Given the description of an element on the screen output the (x, y) to click on. 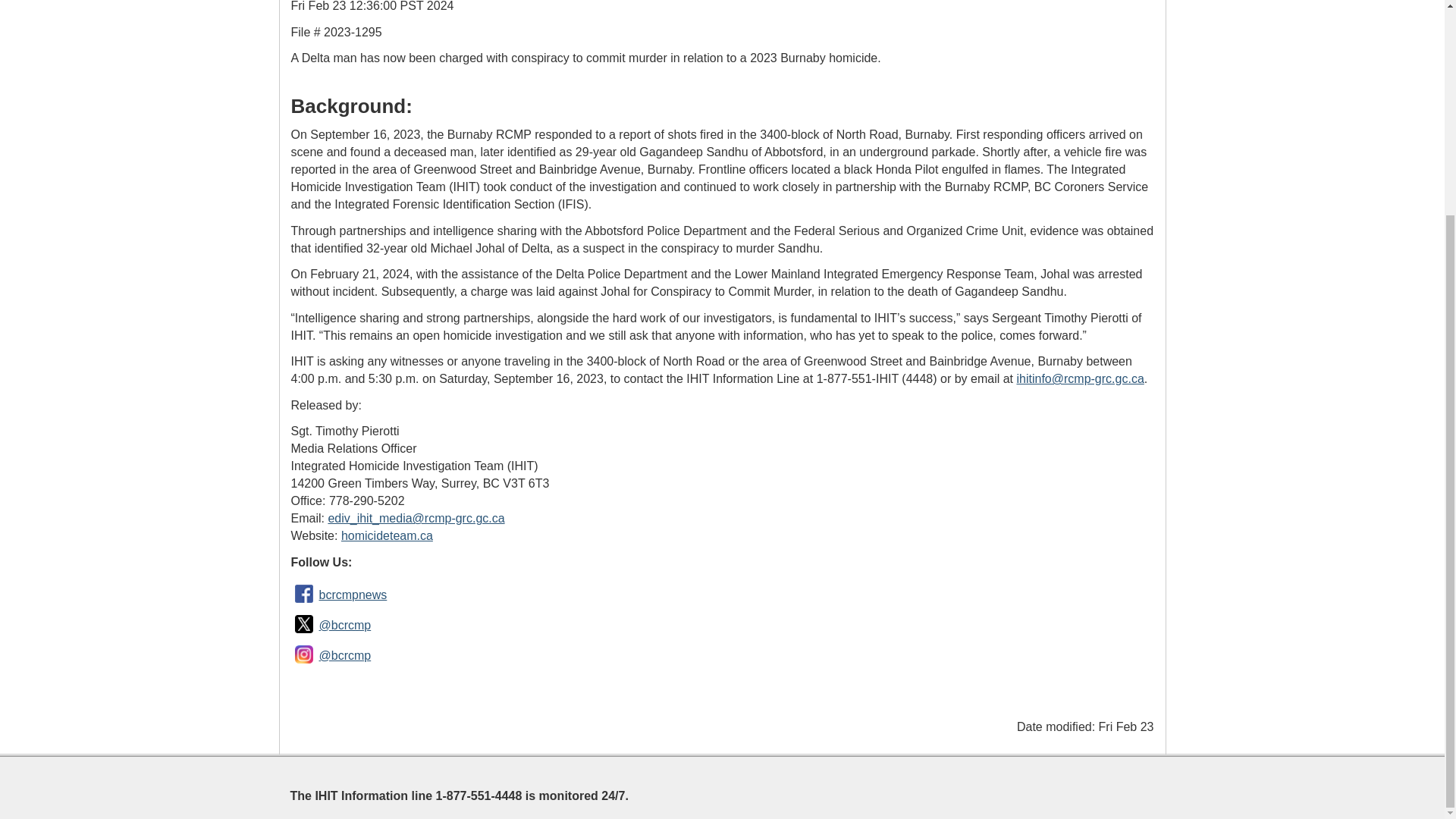
Facebook (304, 593)
bcrcmpnews (352, 594)
Twitter (304, 623)
homicideteam.ca (386, 535)
Instagram (304, 653)
